Given the description of an element on the screen output the (x, y) to click on. 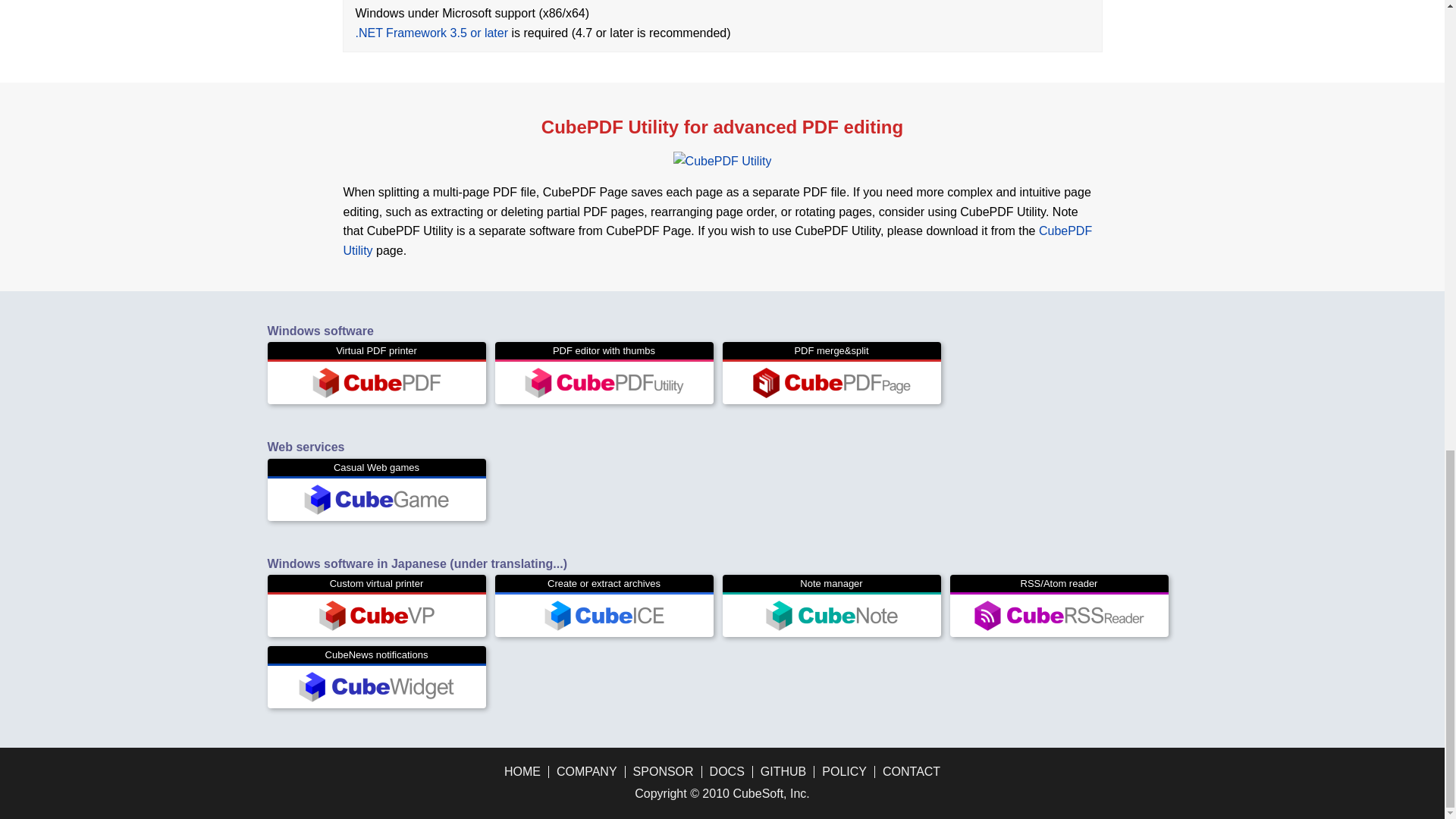
CubeGame: Casual Web games (376, 499)
CubeNote (831, 615)
Create or extract archives (604, 605)
.NET Framework 3.5 or later (431, 32)
CubePDF Page: Easily merge PDFs and images (831, 382)
CubeVP (375, 615)
CubePDF Utility (717, 240)
CubePDF Utility: PDF editor with thumbnails (604, 382)
CubeRSS Reader (1058, 615)
Note manager (831, 605)
